Given the description of an element on the screen output the (x, y) to click on. 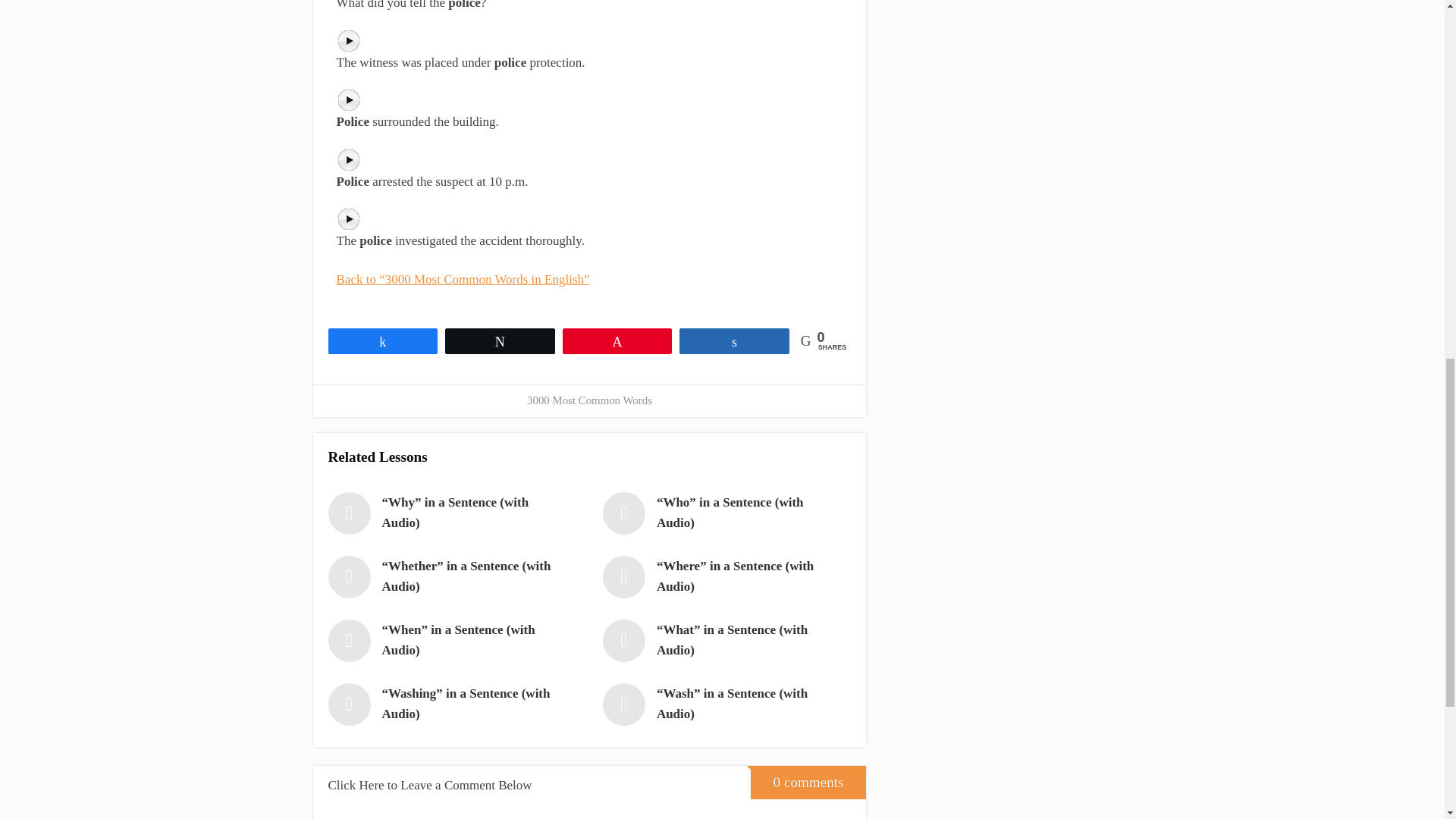
3000 Most Common Words (589, 399)
